Given the description of an element on the screen output the (x, y) to click on. 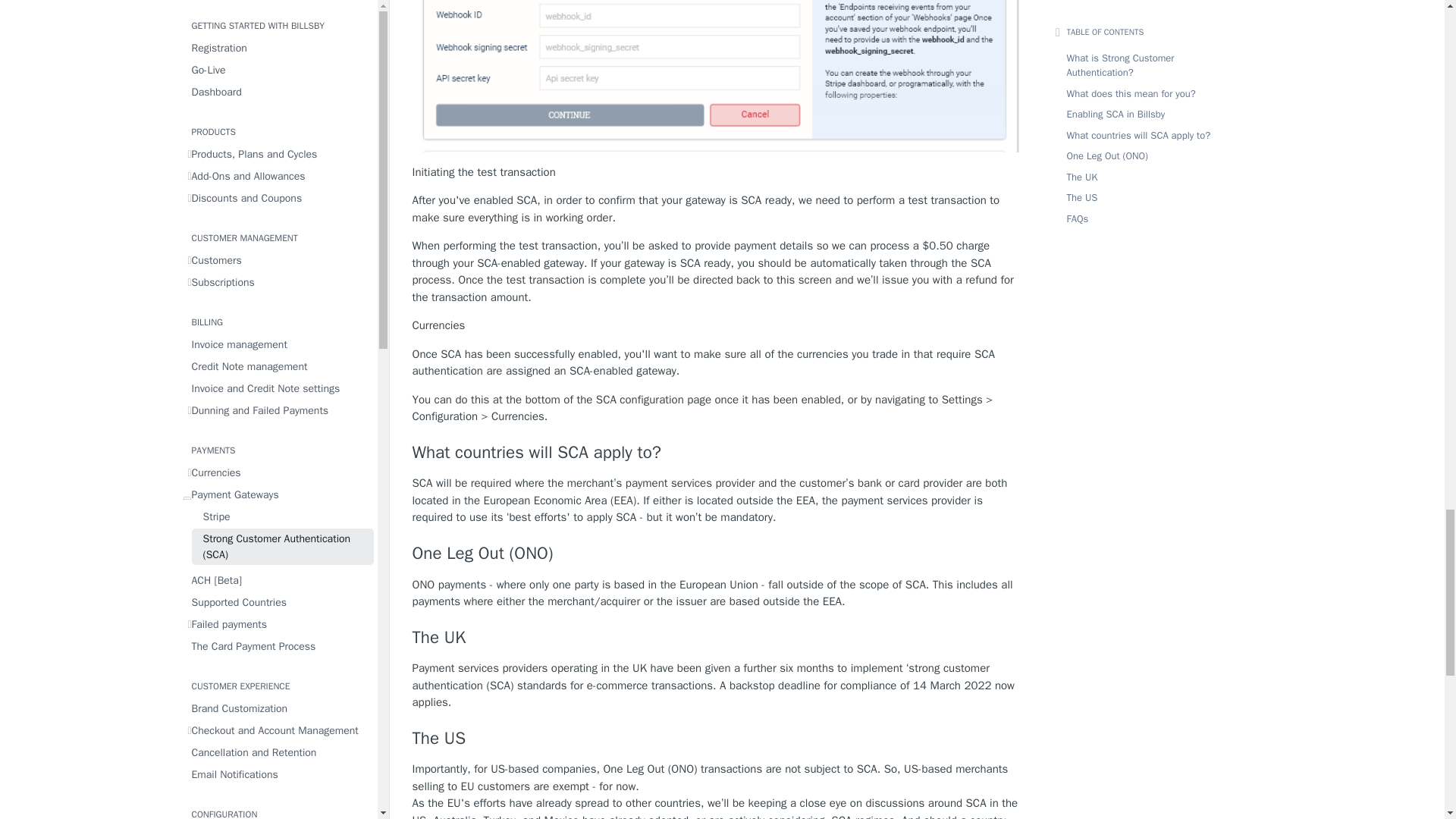
909190e-e57deb3-Capture1.PNG (715, 76)
The UK (715, 637)
What countries will SCA apply to? (715, 452)
The US (715, 738)
